Given the description of an element on the screen output the (x, y) to click on. 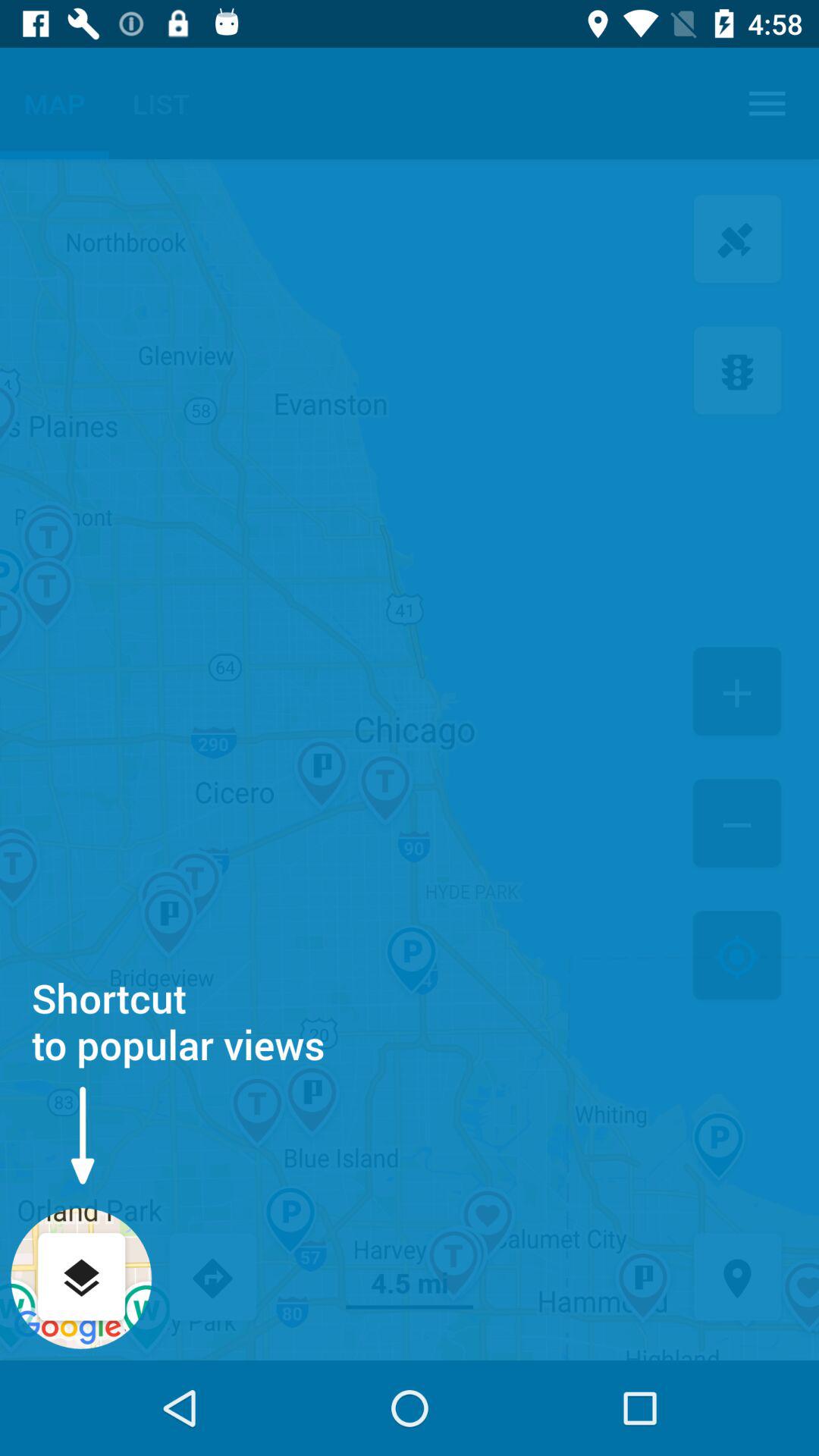
add option (737, 693)
